Given the description of an element on the screen output the (x, y) to click on. 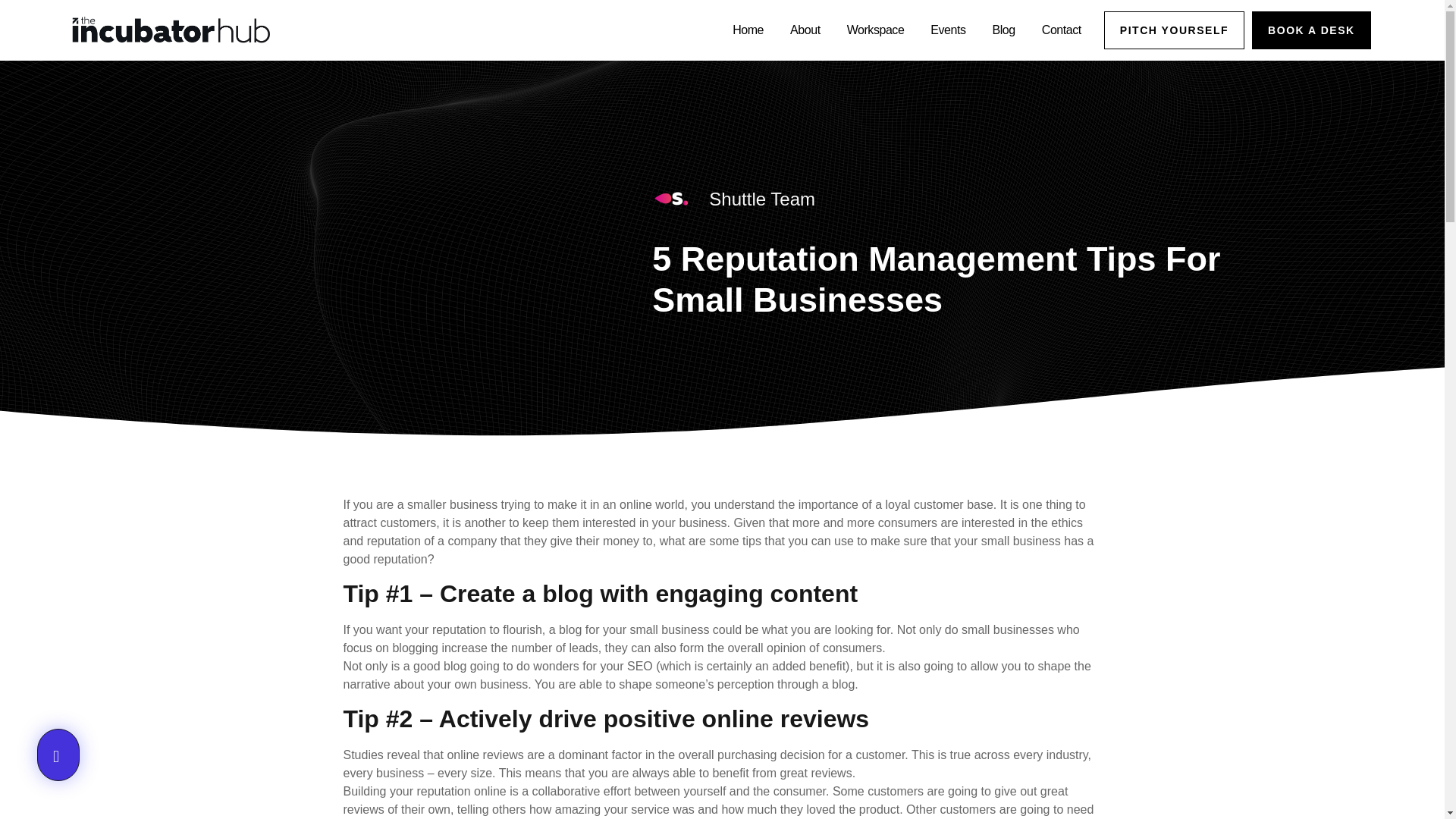
Home (748, 30)
Blog (1004, 30)
Events (947, 30)
About (805, 30)
Contact (1061, 30)
Workspace (876, 30)
